Given the description of an element on the screen output the (x, y) to click on. 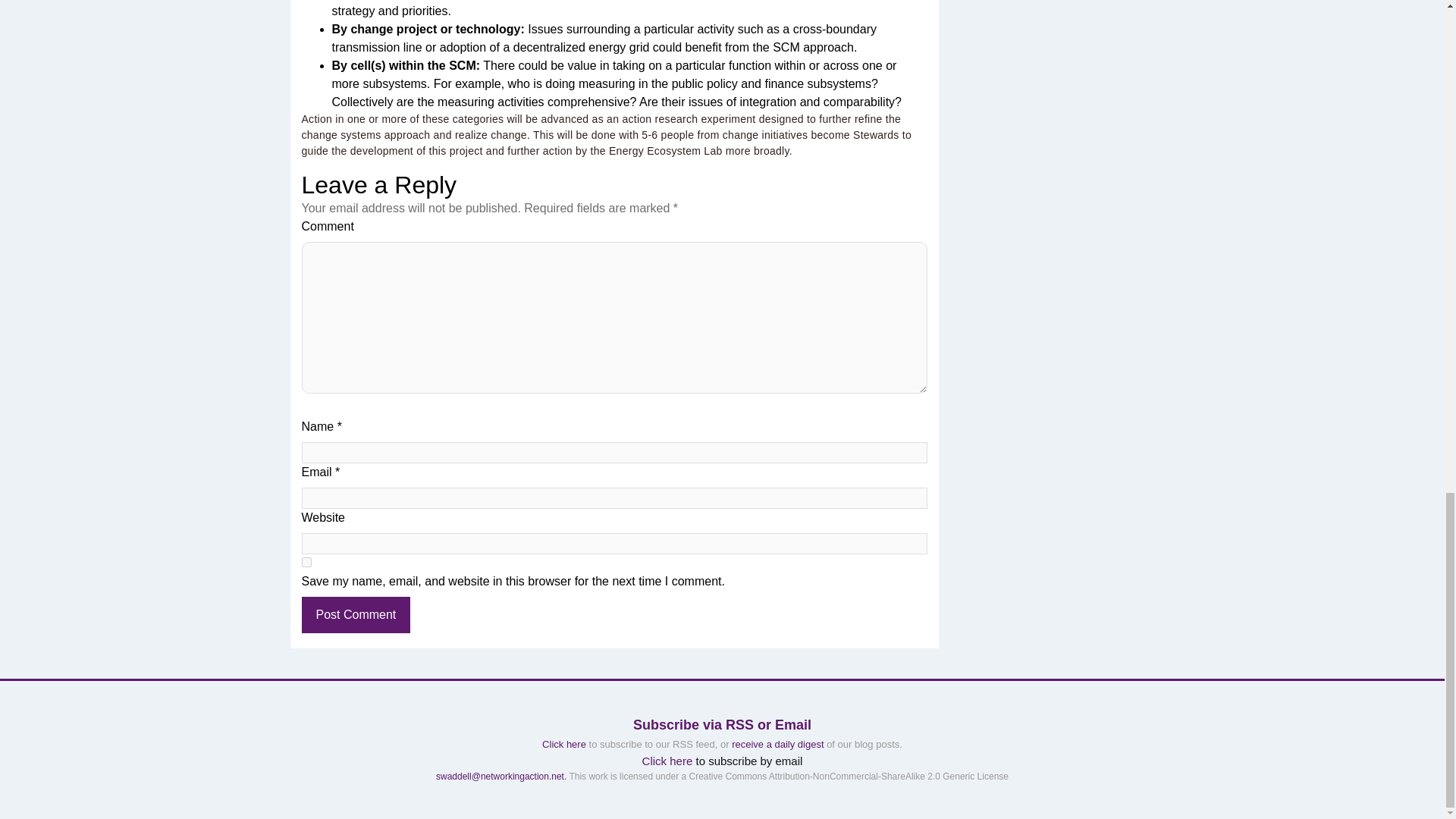
yes (306, 562)
Post Comment (355, 615)
